Given the description of an element on the screen output the (x, y) to click on. 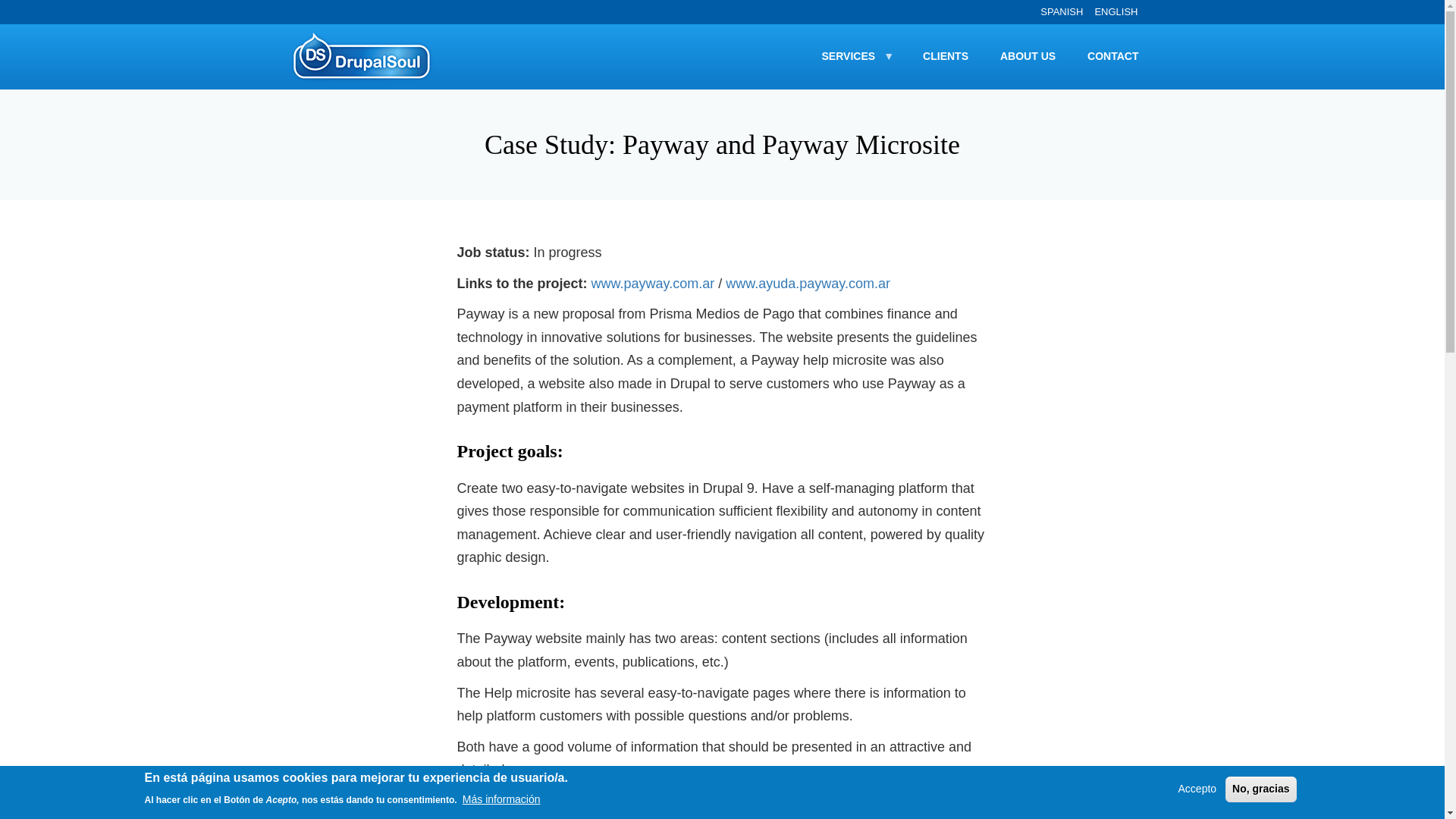
www.ayuda.payway.com.ar  (809, 283)
CLIENTS (945, 56)
No, gracias (1260, 789)
SPANISH (1062, 11)
Accepto (1197, 789)
ABOUT US (1027, 56)
www.payway.com.ar (652, 283)
Home (367, 56)
ENGLISH (1115, 11)
CONTACT (1112, 56)
